Given the description of an element on the screen output the (x, y) to click on. 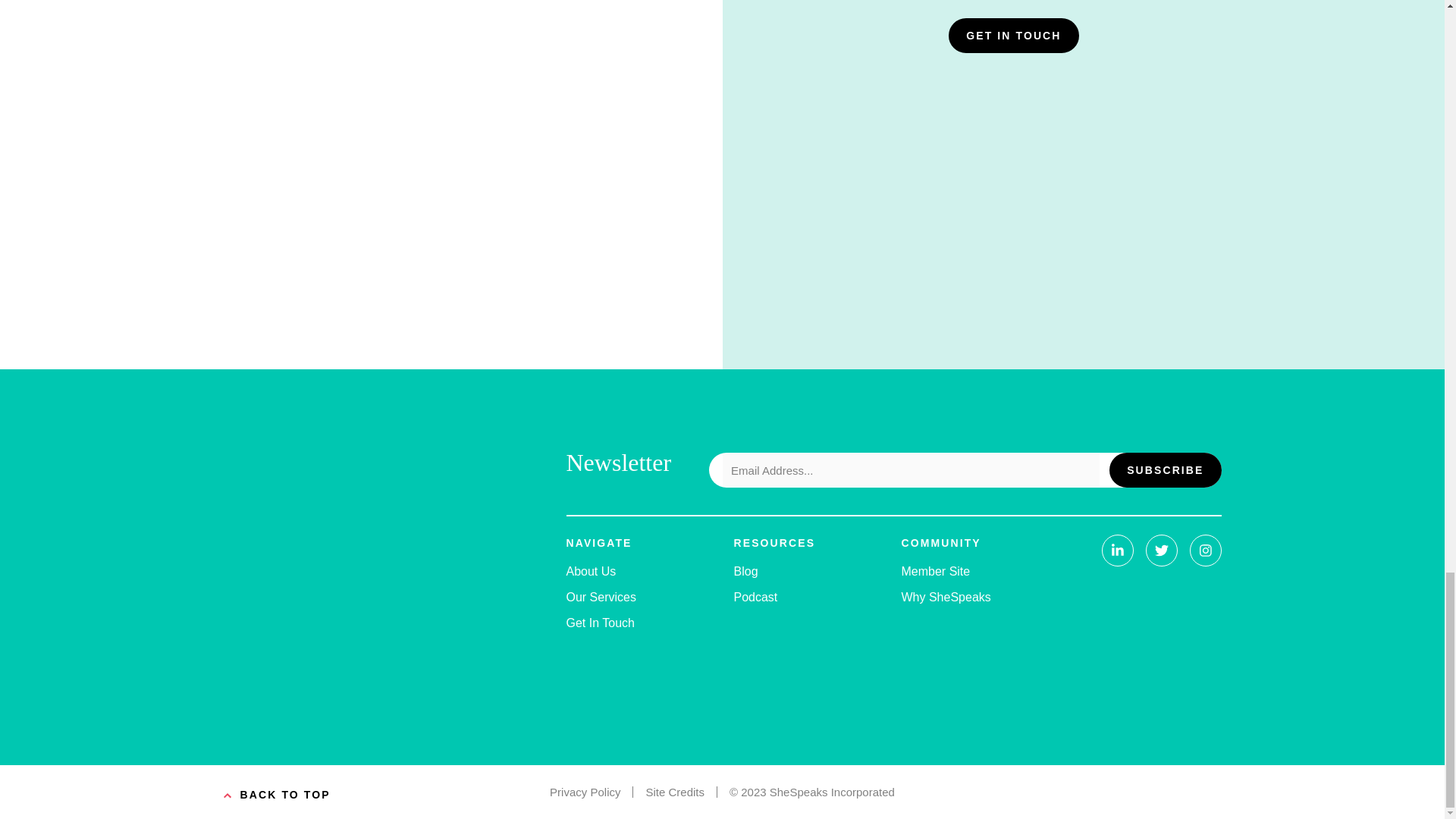
LinkedIn (1116, 550)
Instagram (1205, 550)
Subscribe (1165, 469)
Twitter (1160, 550)
GET IN TOUCH (1013, 35)
